Given the description of an element on the screen output the (x, y) to click on. 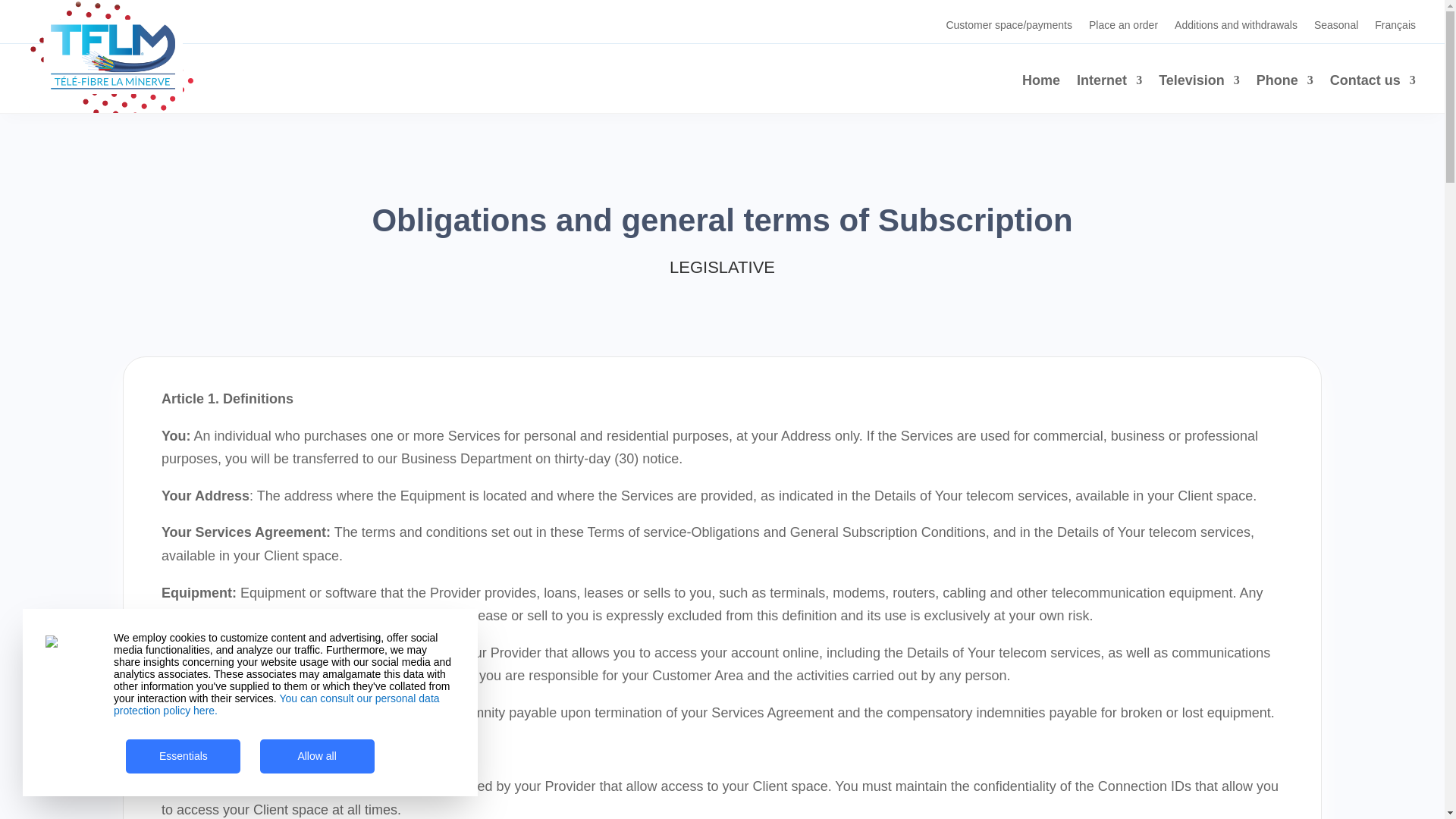
Home (1040, 83)
Television (1199, 83)
Additions and withdrawals (1235, 27)
Place an order (1123, 27)
Contact us (1372, 83)
Internet (1109, 83)
Seasonal (1336, 27)
Phone (1284, 83)
